Given the description of an element on the screen output the (x, y) to click on. 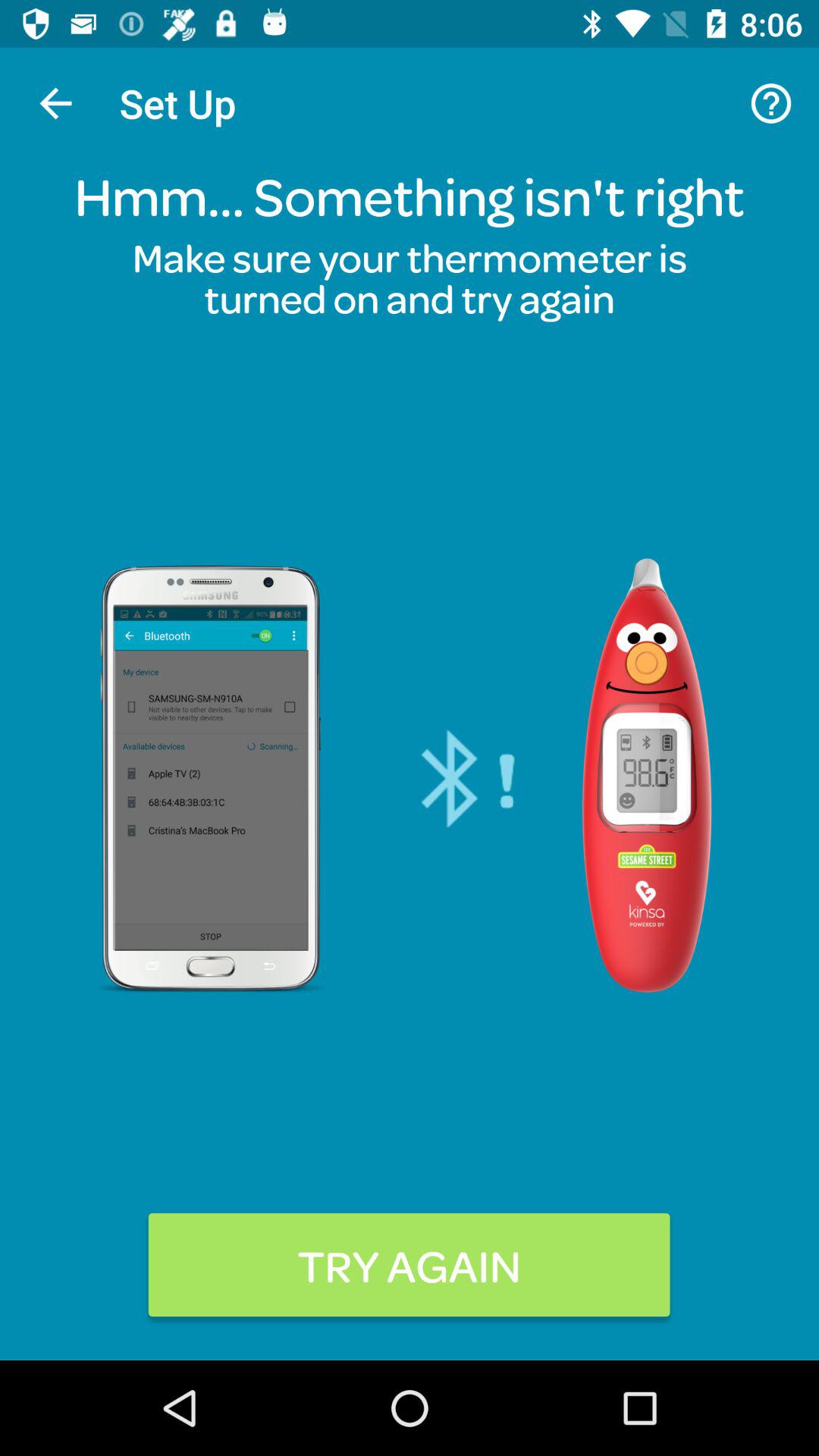
click the icon to the left of set up item (55, 103)
